Given the description of an element on the screen output the (x, y) to click on. 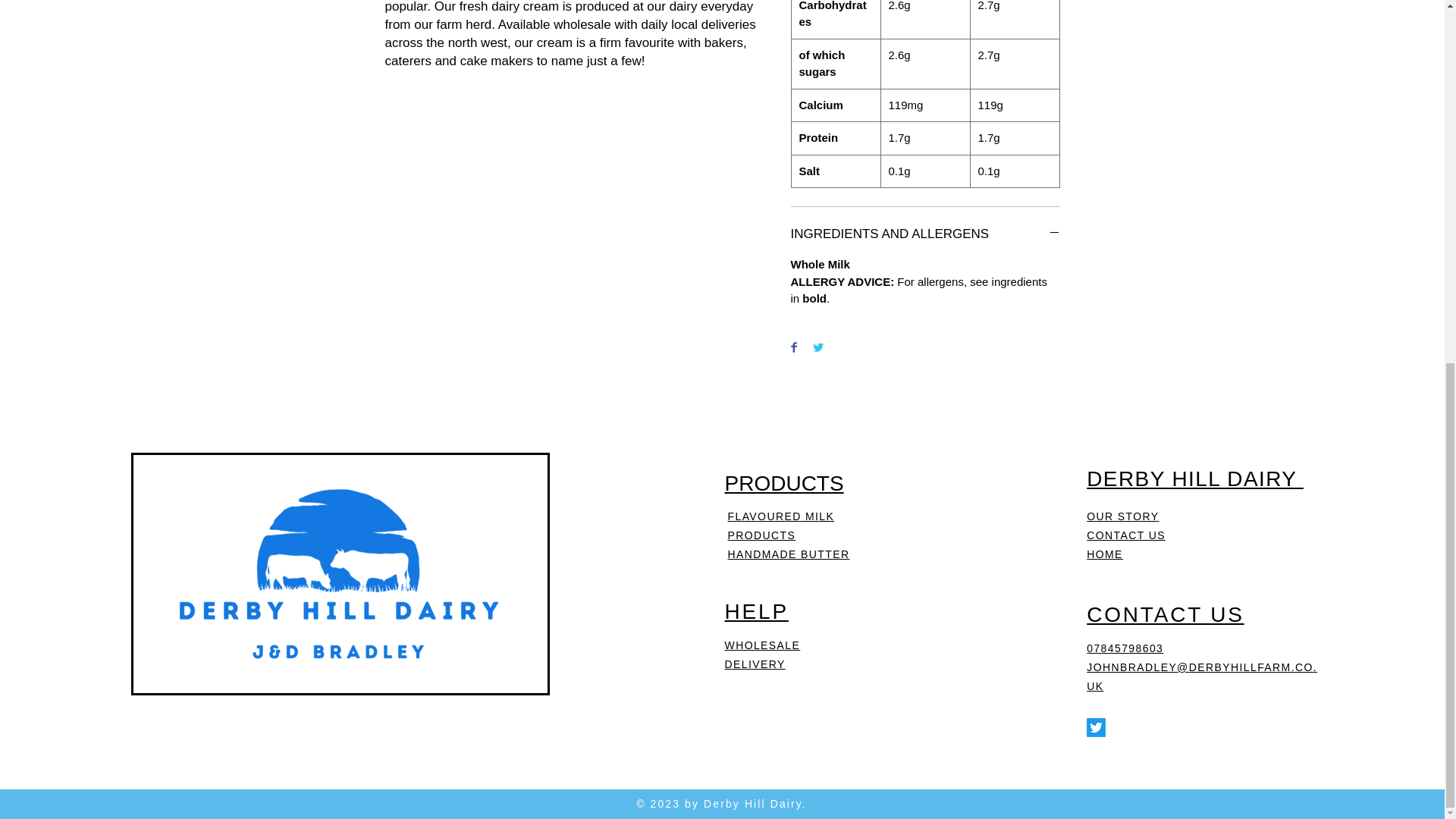
CONTACT US (1126, 535)
OUR STORY (1122, 516)
WHOLESALE (762, 645)
HOME (1104, 553)
DERBY HILL DAIRY  (1194, 478)
FLAVOURED MILK (781, 516)
HELP (757, 611)
PRODUCTS (784, 483)
DELIVERY (755, 664)
HANDMADE BUTTER (789, 553)
